Given the description of an element on the screen output the (x, y) to click on. 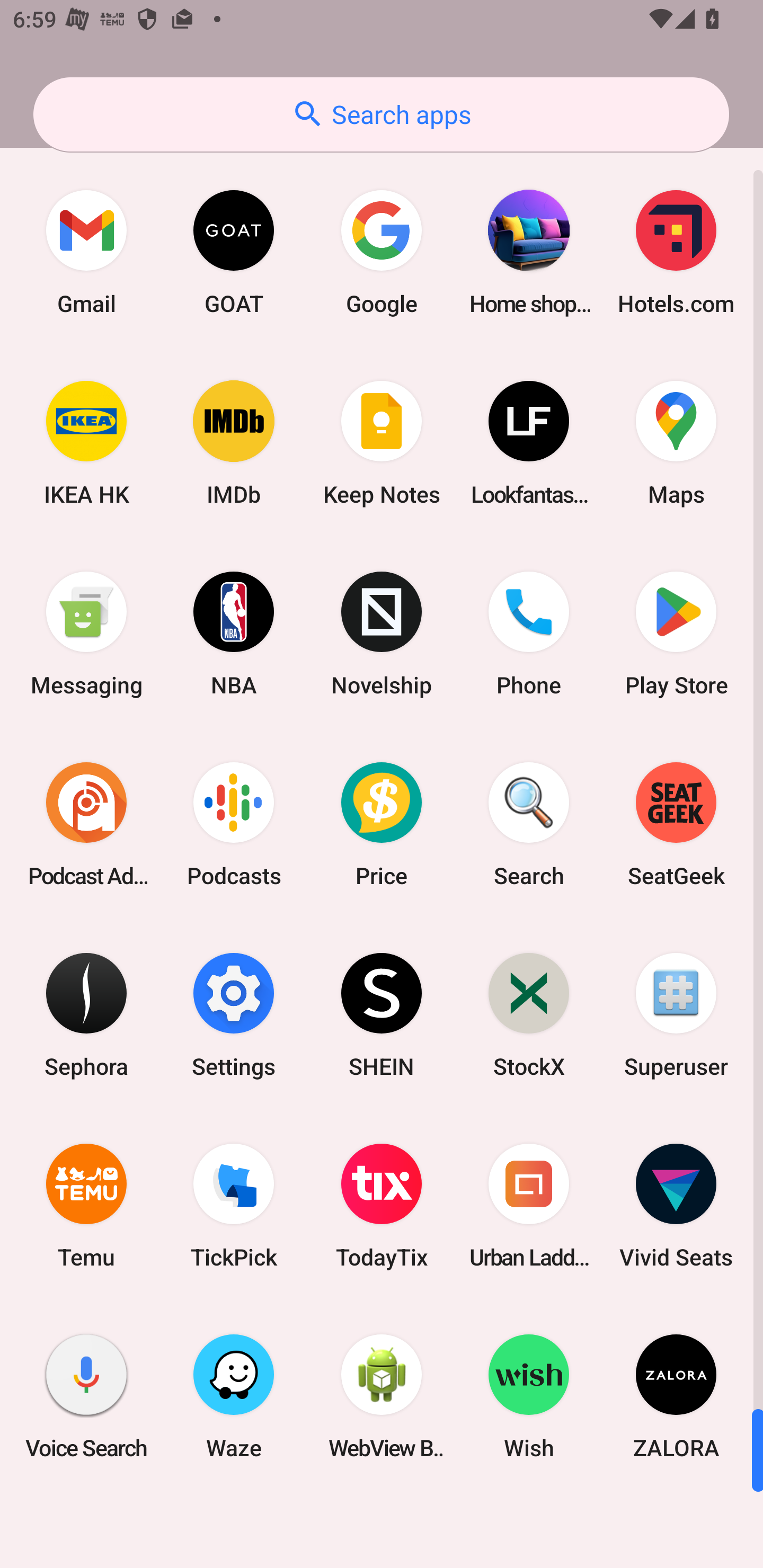
  Search apps (381, 114)
Gmail (86, 252)
GOAT (233, 252)
Google (381, 252)
Home shopping (528, 252)
Hotels.com (676, 252)
IKEA HK (86, 442)
IMDb (233, 442)
Keep Notes (381, 442)
Lookfantastic (528, 442)
Maps (676, 442)
Messaging (86, 633)
NBA (233, 633)
Novelship (381, 633)
Phone (528, 633)
Play Store (676, 633)
Podcast Addict (86, 823)
Podcasts (233, 823)
Price (381, 823)
Search (528, 823)
SeatGeek (676, 823)
Sephora (86, 1014)
Settings (233, 1014)
SHEIN (381, 1014)
StockX (528, 1014)
Superuser (676, 1014)
Temu (86, 1205)
TickPick (233, 1205)
TodayTix (381, 1205)
Urban Ladder (528, 1205)
Vivid Seats (676, 1205)
Voice Search (86, 1396)
Waze (233, 1396)
WebView Browser Tester (381, 1396)
Wish (528, 1396)
ZALORA (676, 1396)
